Given the description of an element on the screen output the (x, y) to click on. 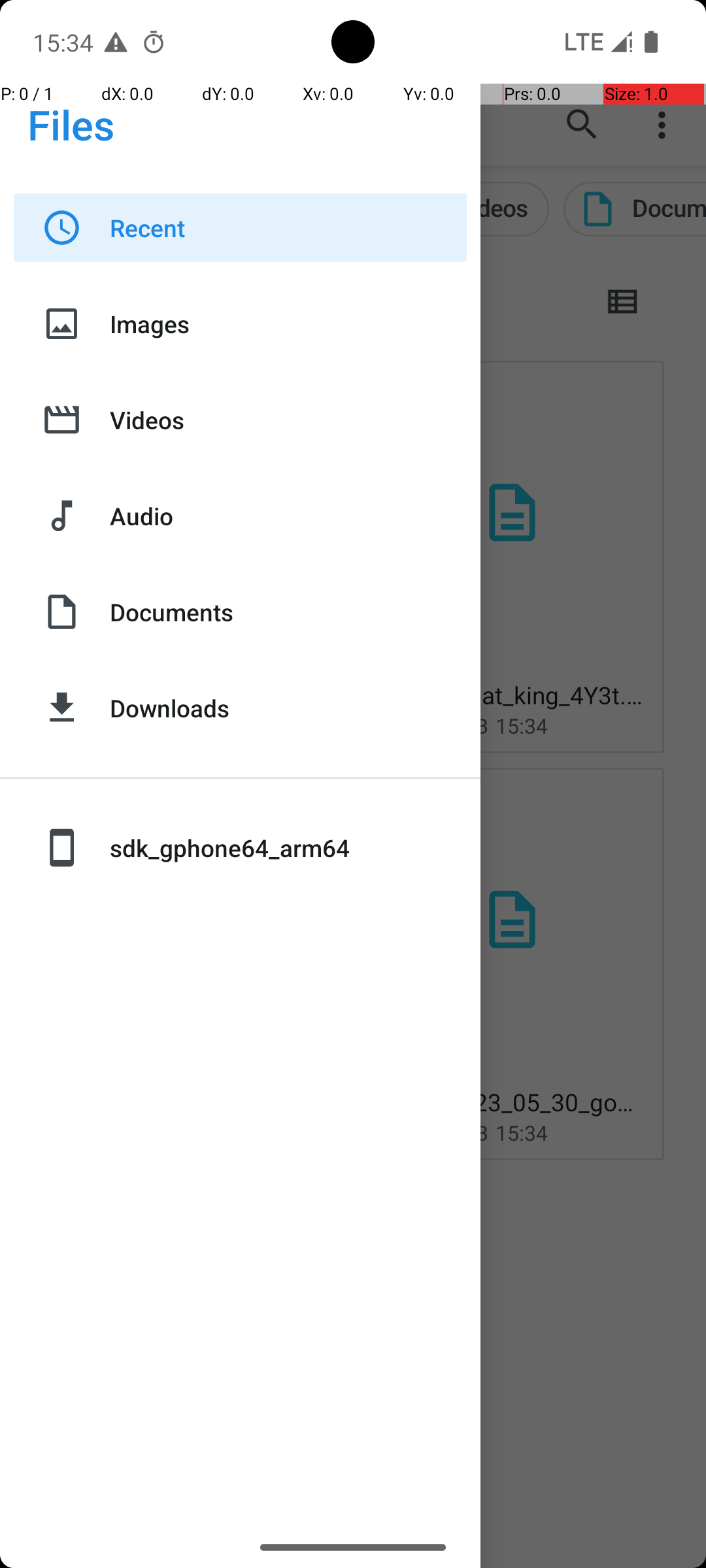
Files Element type: android.widget.TextView (70, 124)
sdk_gphone64_arm64 Element type: android.widget.TextView (287, 847)
